Given the description of an element on the screen output the (x, y) to click on. 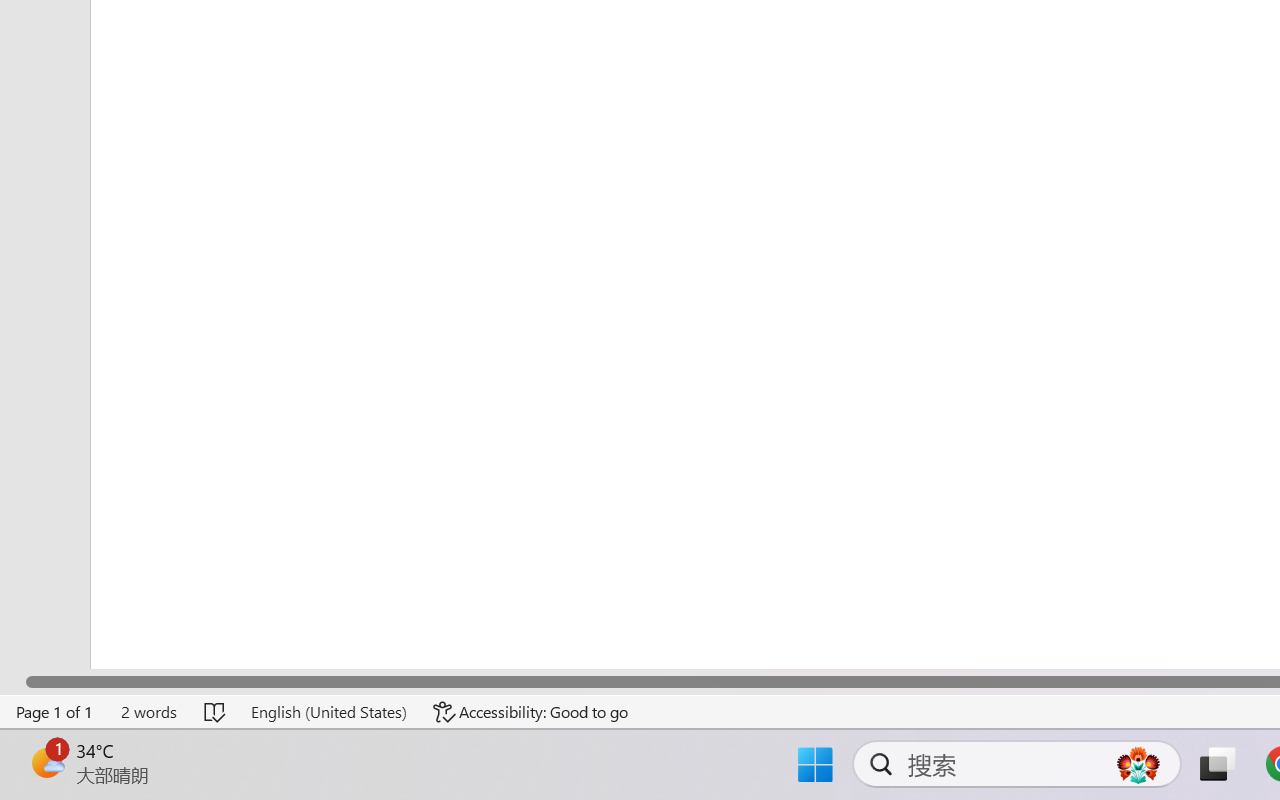
AutomationID: DynamicSearchBoxGleamImage (1138, 764)
AutomationID: BadgeAnchorLargeTicker (46, 762)
Language English (United States) (328, 712)
Spelling and Grammar Check No Errors (216, 712)
Accessibility Checker Accessibility: Good to go (531, 712)
Page Number Page 1 of 1 (55, 712)
